Given the description of an element on the screen output the (x, y) to click on. 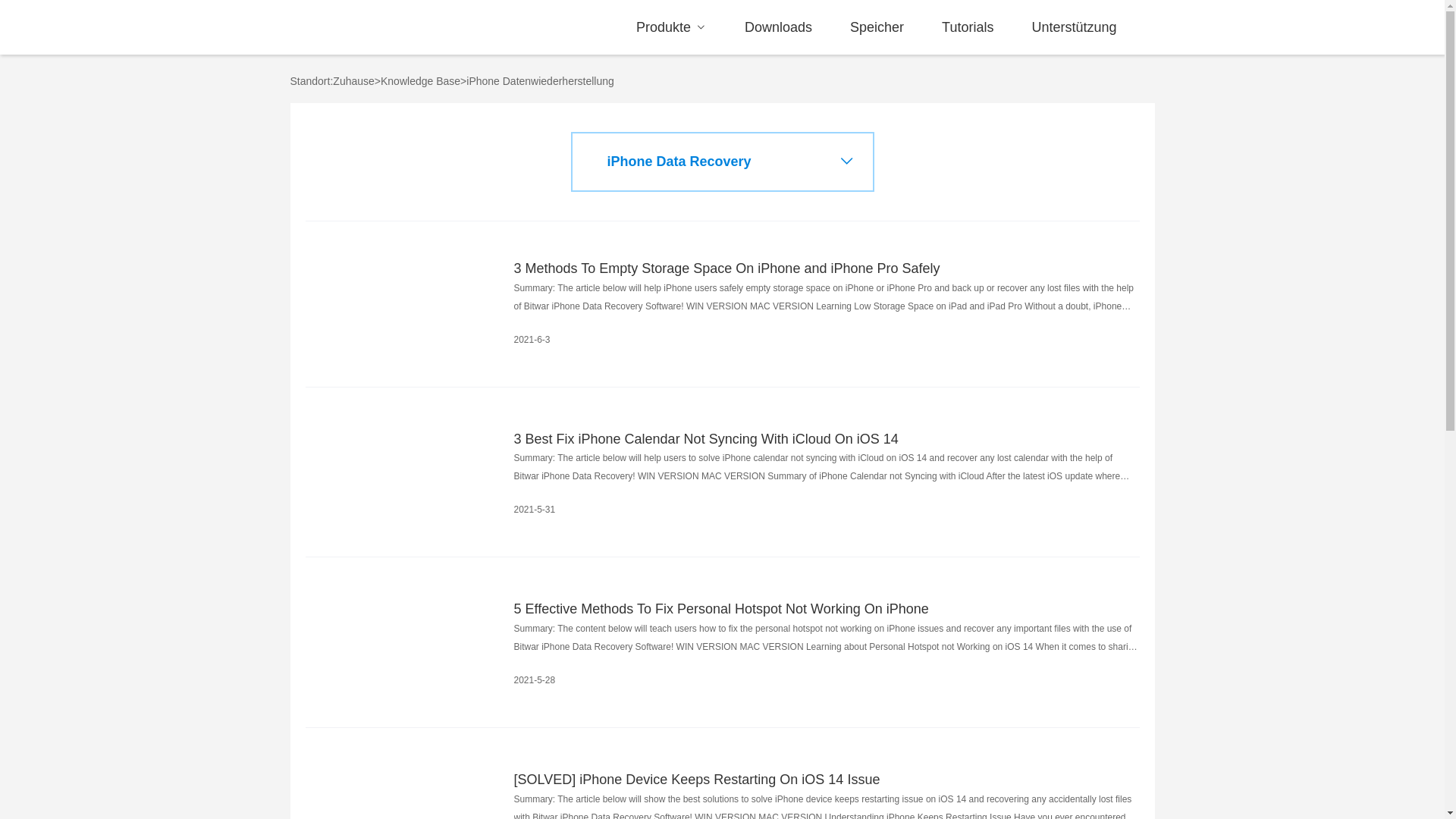
Zuhause (353, 80)
3 Best Fix iPhone Calendar Not Syncing With iCloud On iOS 14 (826, 439)
Downloads (778, 27)
Speicher (876, 27)
Knowledge Base (420, 80)
Tutorials (967, 27)
Produkte (670, 27)
